Given the description of an element on the screen output the (x, y) to click on. 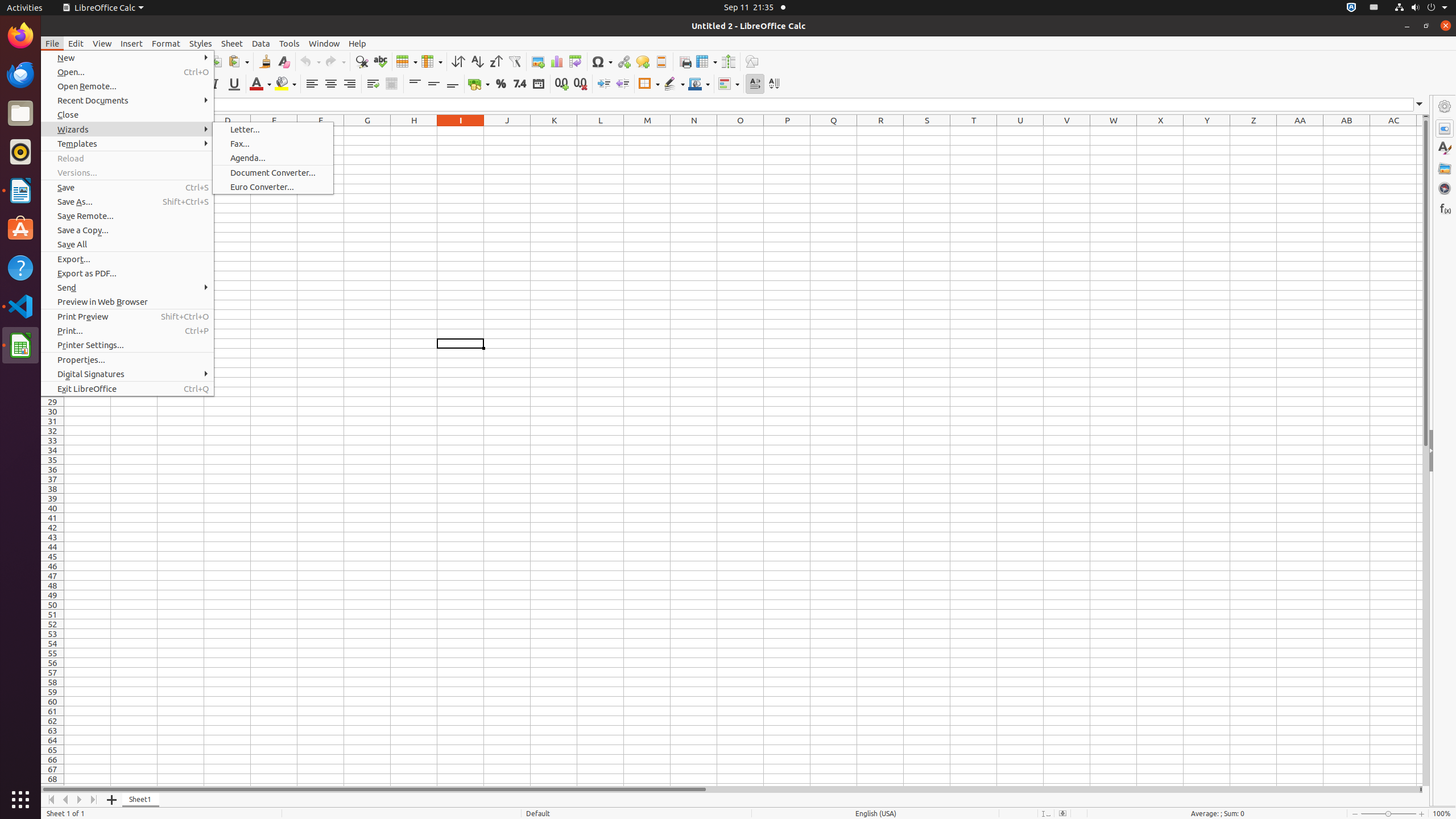
Column Element type: push-button (431, 61)
L1 Element type: table-cell (600, 130)
Save As... Element type: menu-item (126, 201)
M1 Element type: table-cell (646, 130)
Functions Element type: radio-button (1444, 208)
